Given the description of an element on the screen output the (x, y) to click on. 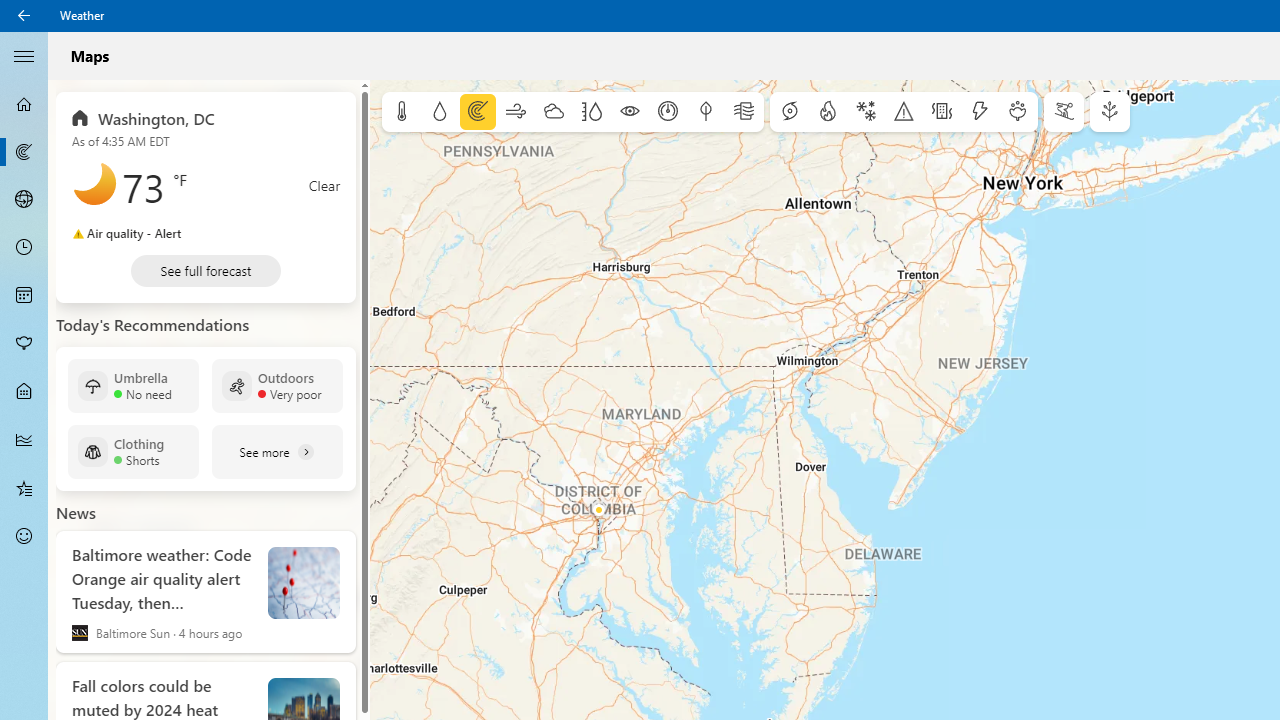
3D Maps - Not Selected (24, 199)
Maps - Not Selected (24, 151)
Hourly Forecast - Not Selected (24, 247)
Historical Weather - Not Selected (24, 439)
Life - Not Selected (24, 391)
Forecast - Not Selected (24, 103)
Pollen - Not Selected (24, 343)
